Given the description of an element on the screen output the (x, y) to click on. 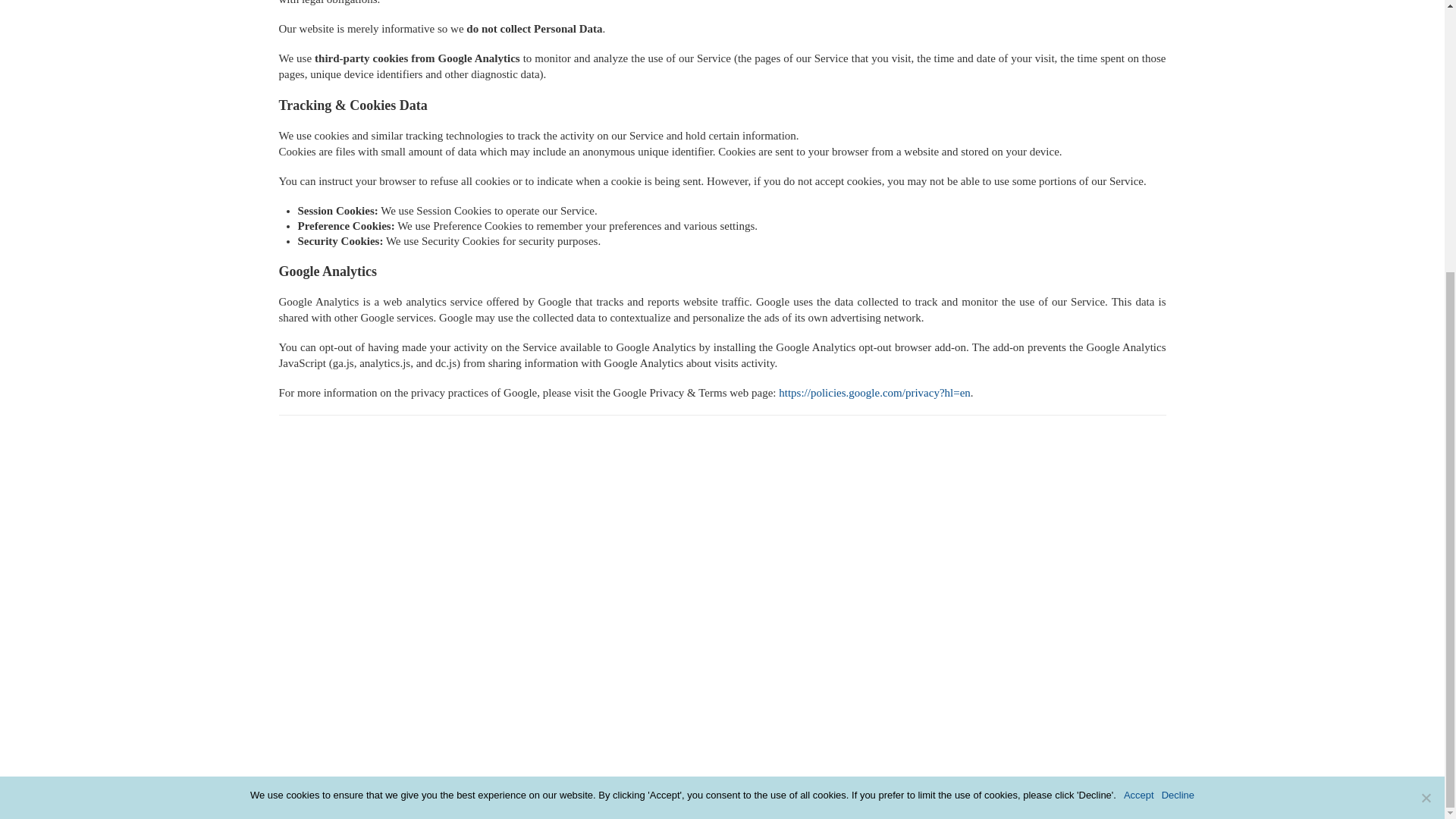
Accept (1139, 396)
Decline (1177, 396)
Decline (1425, 398)
